Given the description of an element on the screen output the (x, y) to click on. 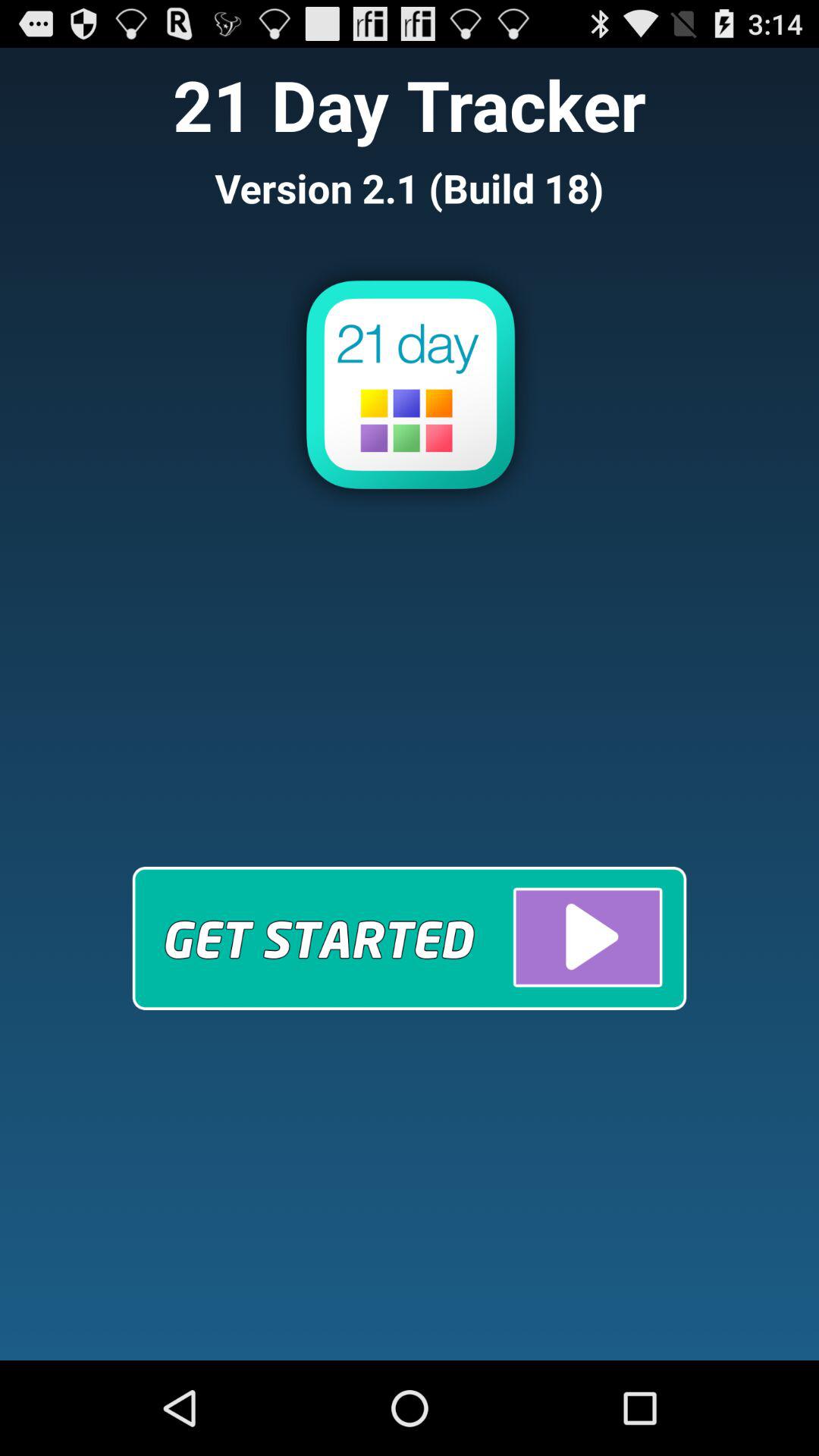
start the tracker (409, 937)
